Given the description of an element on the screen output the (x, y) to click on. 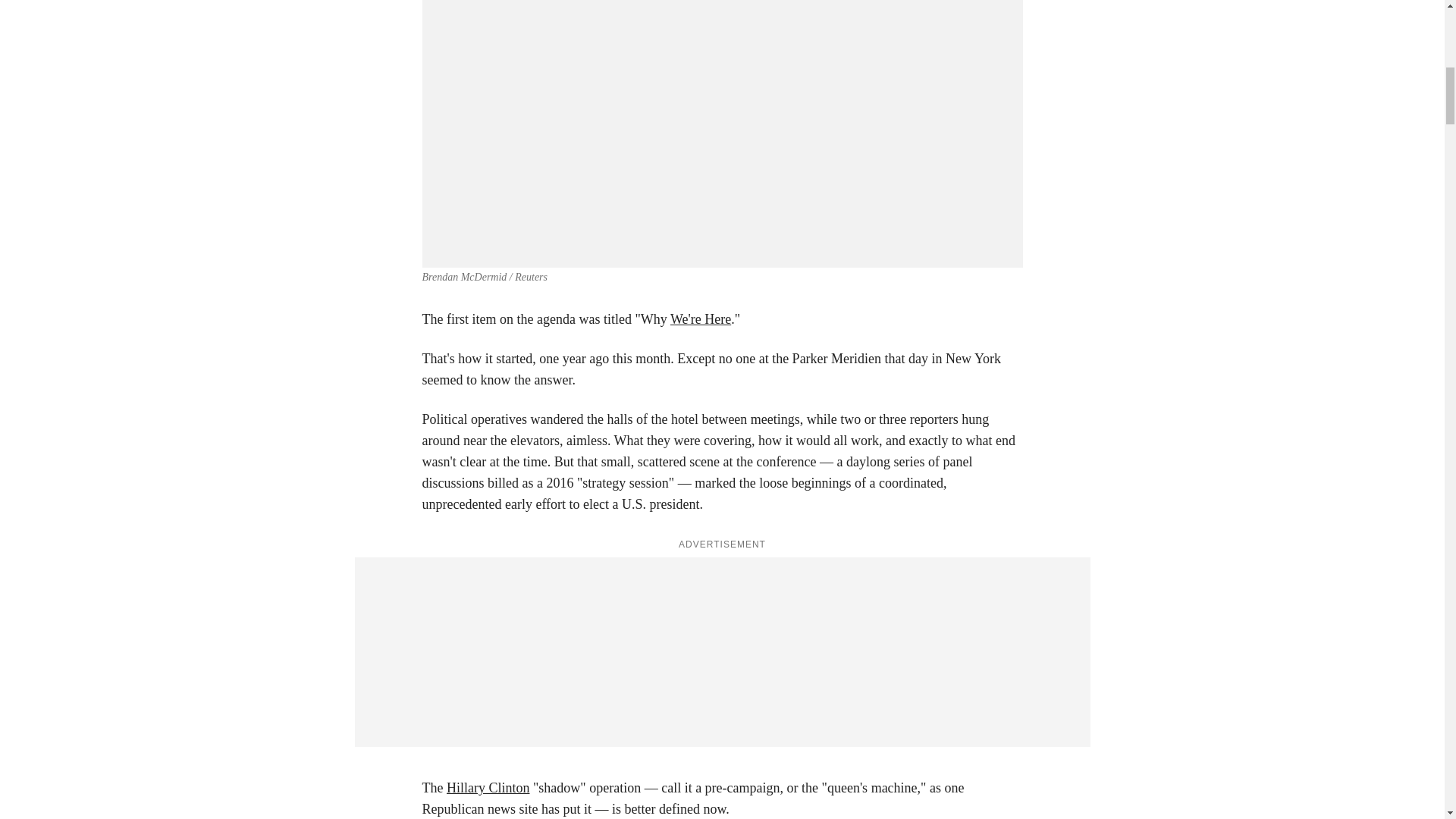
We're Here (699, 319)
Hillary Clinton (487, 787)
